Given the description of an element on the screen output the (x, y) to click on. 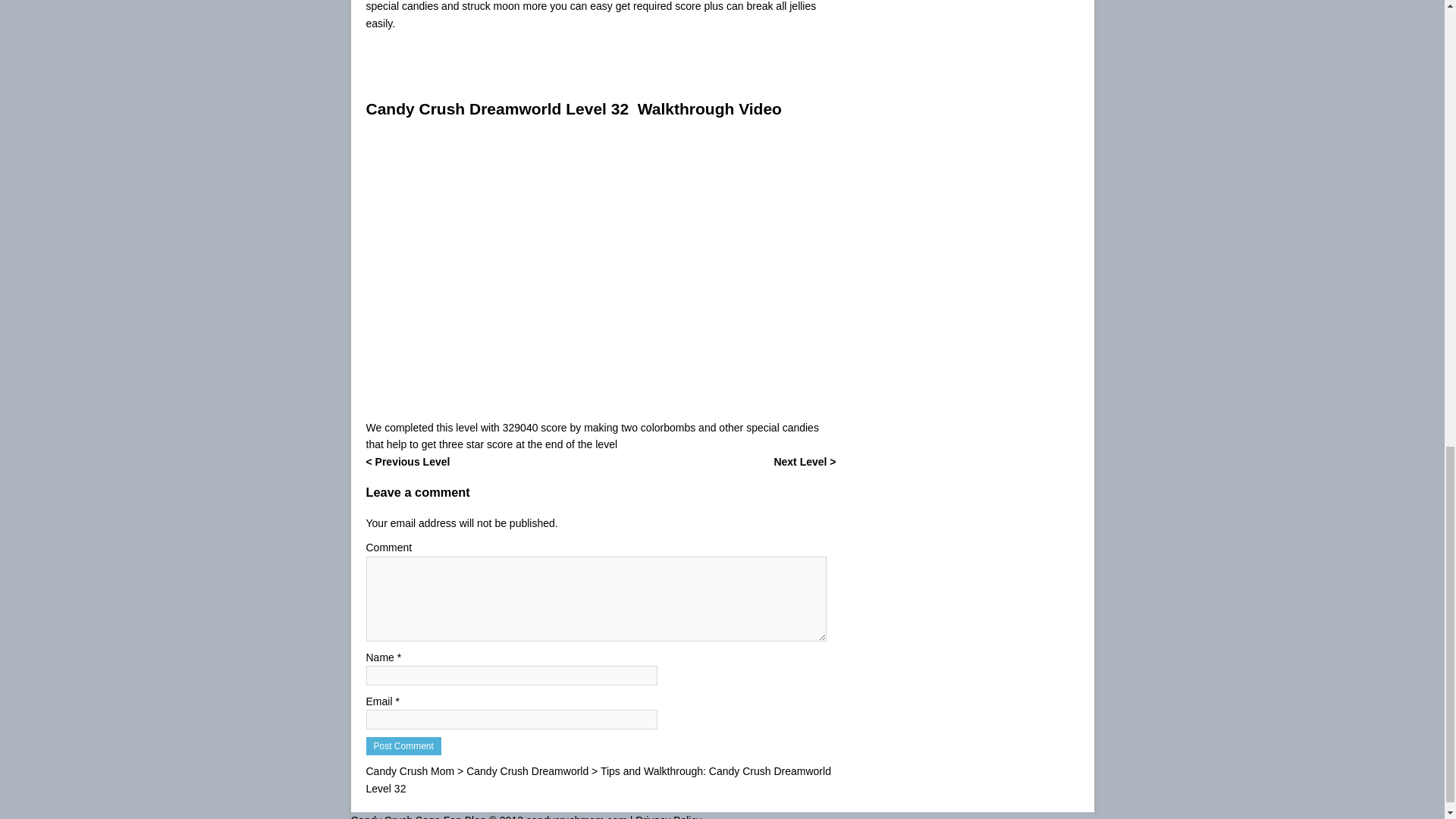
Candy Crush Mom (409, 770)
Go to the Candy Crush Dreamworld category archives. (526, 770)
Post Comment (403, 746)
Post Comment (403, 746)
Go to Candy Crush Mom. (409, 770)
Candy Crush Dreamworld (526, 770)
